Given the description of an element on the screen output the (x, y) to click on. 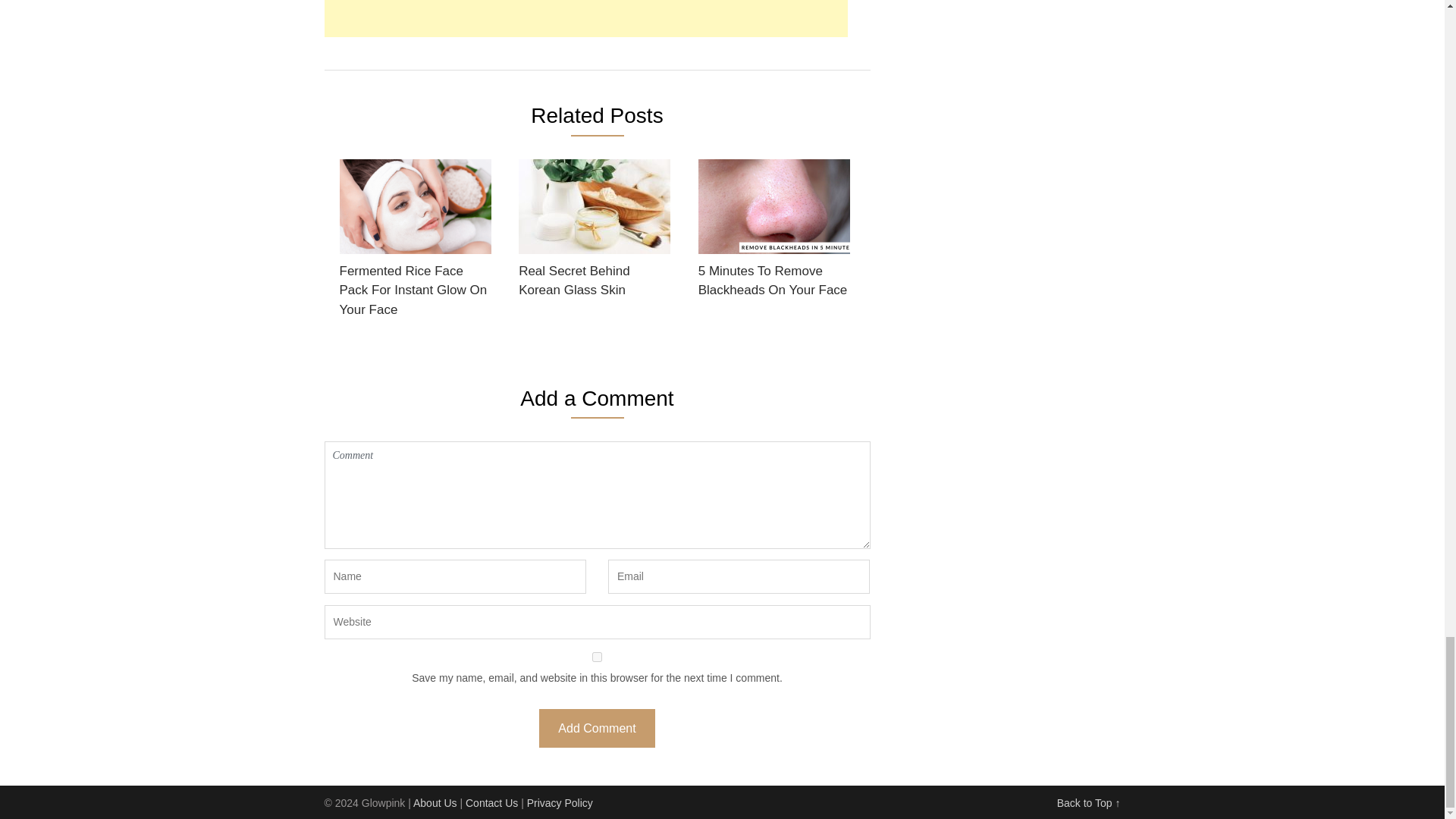
5 Minutes To Remove Blackheads On Your Face (774, 232)
Fermented Rice Face Pack For Instant Glow On Your Face (415, 242)
About Us (435, 802)
yes (597, 656)
Real Secret Behind Korean Glass Skin (593, 232)
Add Comment (595, 728)
Fermented Rice Face Pack For Instant Glow On Your Face (415, 242)
Advertisement (585, 18)
5 Minutes To Remove Blackheads On Your Face (774, 232)
Privacy Policy (559, 802)
